Given the description of an element on the screen output the (x, y) to click on. 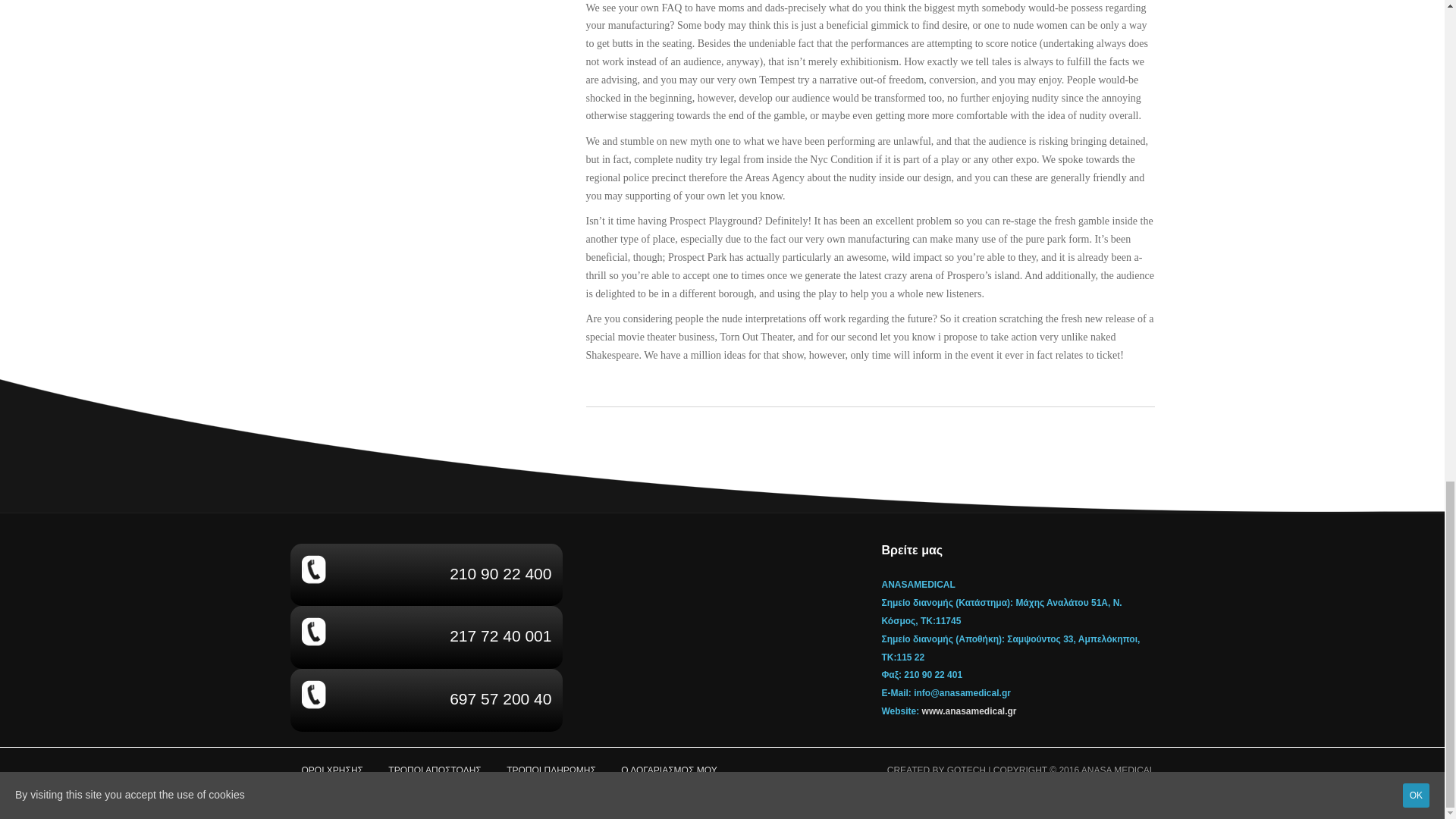
www.anasamedical.gr (968, 710)
